Given the description of an element on the screen output the (x, y) to click on. 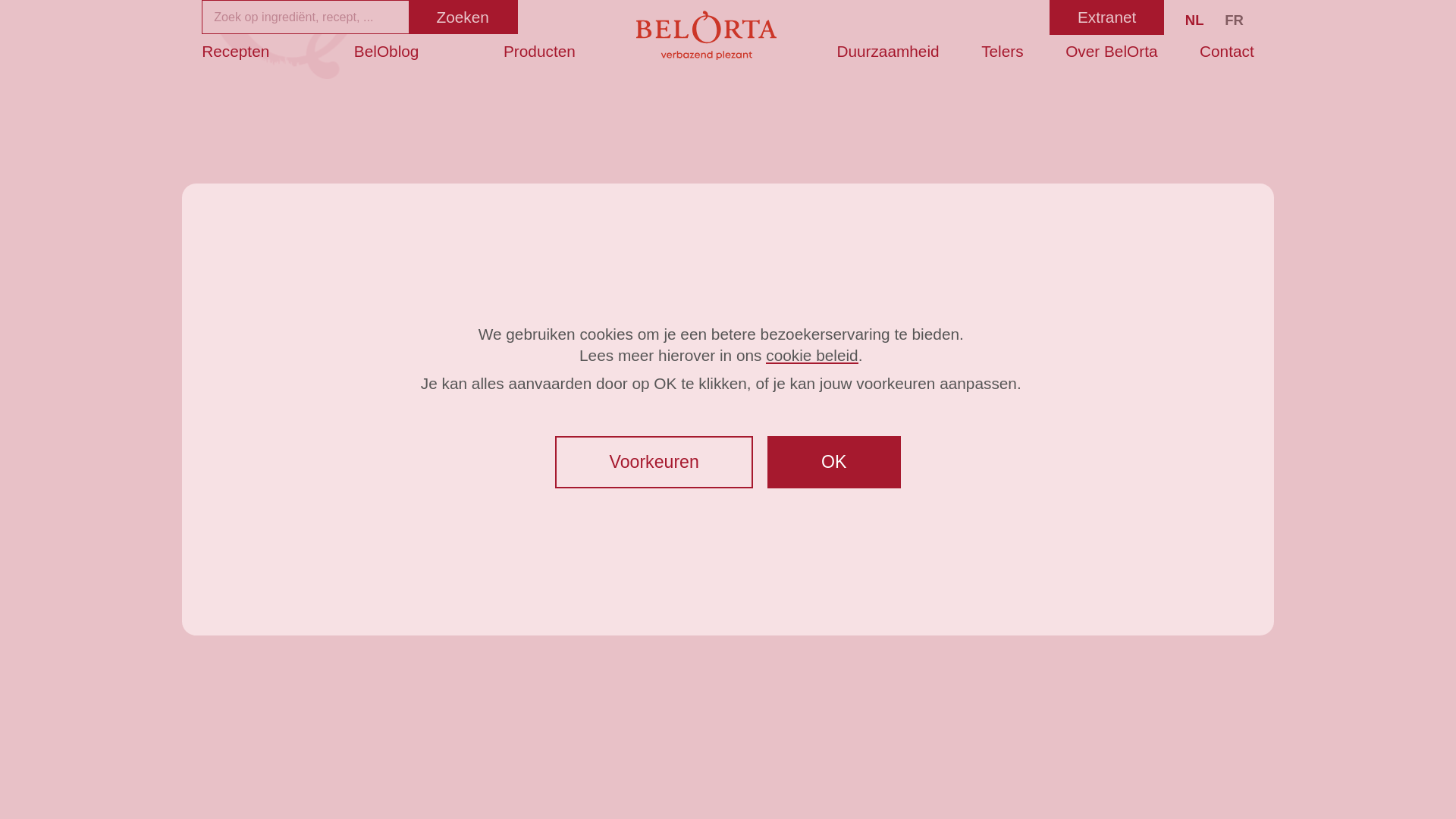
OK Element type: text (833, 462)
NL Element type: text (1194, 20)
Duurzaamheid Element type: text (887, 51)
Telers Element type: text (1001, 51)
Contact Element type: text (1226, 51)
Zoeken Element type: text (462, 16)
Misschien kunnen onze recepten je inspireren? Element type: text (727, 493)
BelOblog Element type: text (386, 51)
Extranet Element type: text (1106, 17)
FR Element type: text (1233, 20)
cookie beleid Element type: text (811, 355)
Over BelOrta Element type: text (1111, 51)
Voorkeuren Element type: text (654, 462)
Recepten Element type: text (235, 51)
Producten Element type: text (539, 51)
